Given the description of an element on the screen output the (x, y) to click on. 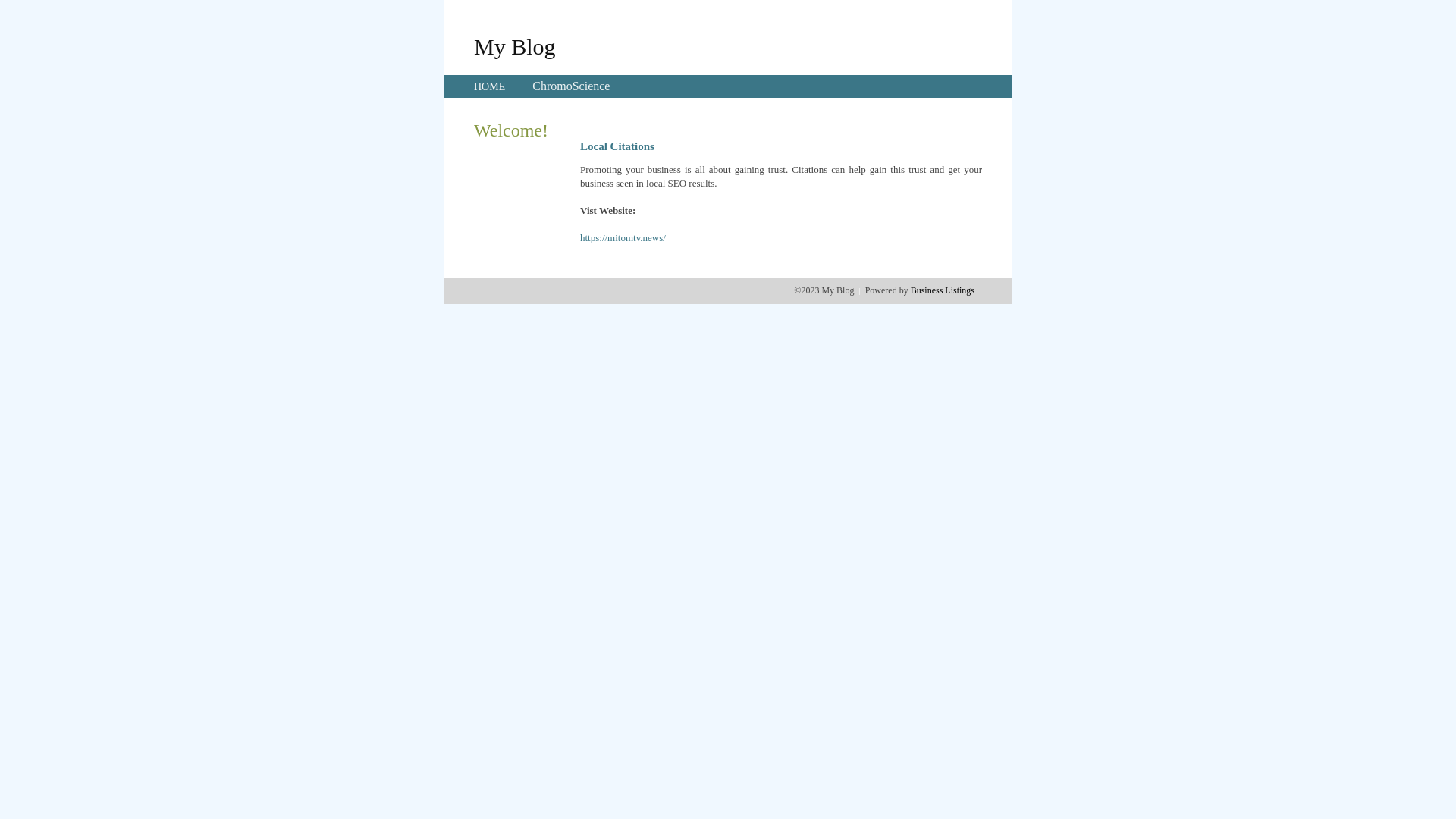
HOME Element type: text (489, 86)
My Blog Element type: text (514, 46)
https://mitomtv.news/ Element type: text (622, 237)
ChromoScience Element type: text (570, 85)
Business Listings Element type: text (942, 290)
